Given the description of an element on the screen output the (x, y) to click on. 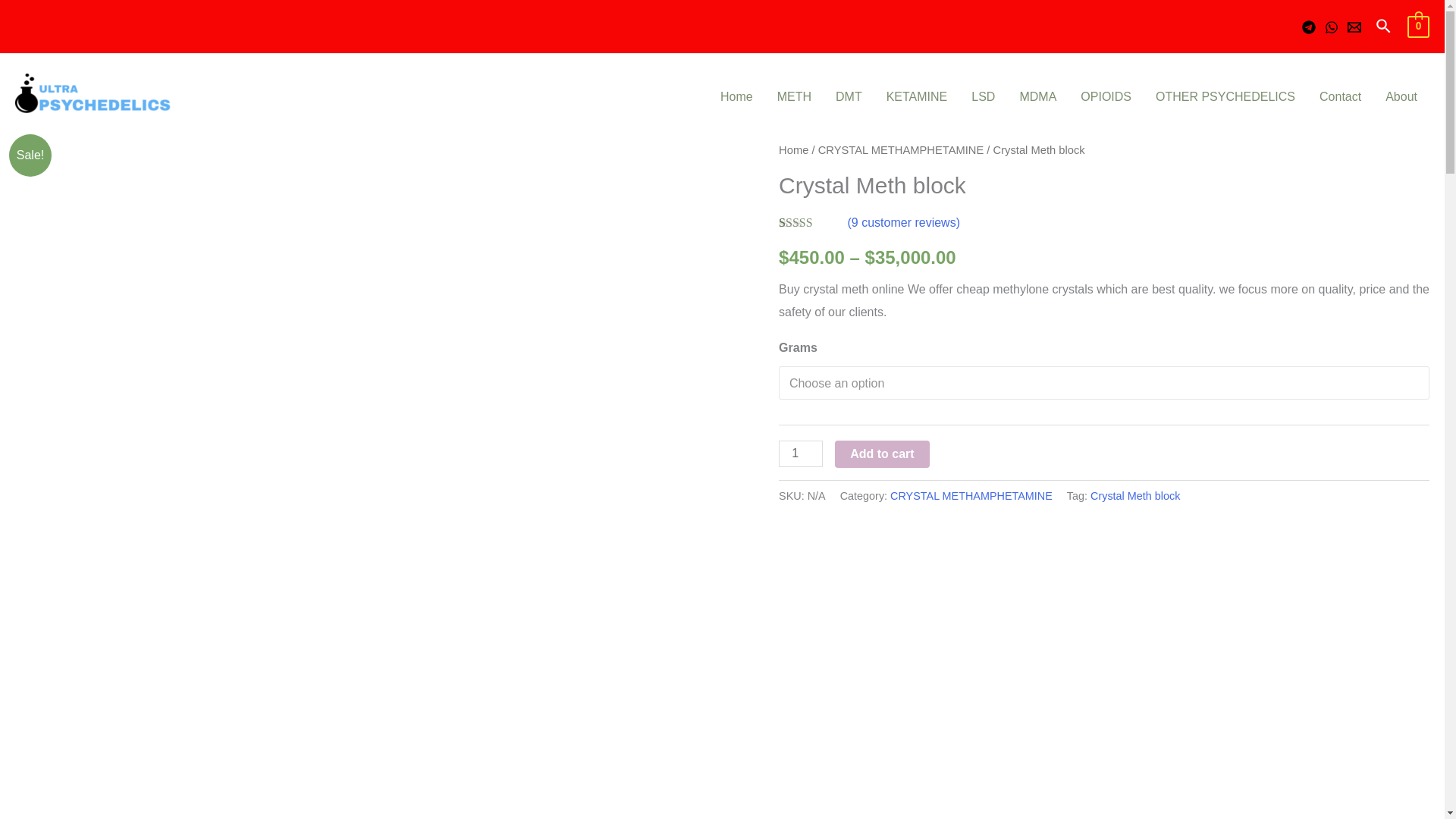
MDMA (1037, 96)
About (1401, 96)
Home (736, 96)
LSD (983, 96)
OTHER PSYCHEDELICS (1224, 96)
Contact (1340, 96)
Home (793, 150)
METH (794, 96)
0 (1418, 25)
Add to cart (881, 453)
KETAMINE (917, 96)
OPIOIDS (1105, 96)
1 (800, 453)
DMT (849, 96)
CRYSTAL METHAMPHETAMINE (970, 495)
